Given the description of an element on the screen output the (x, y) to click on. 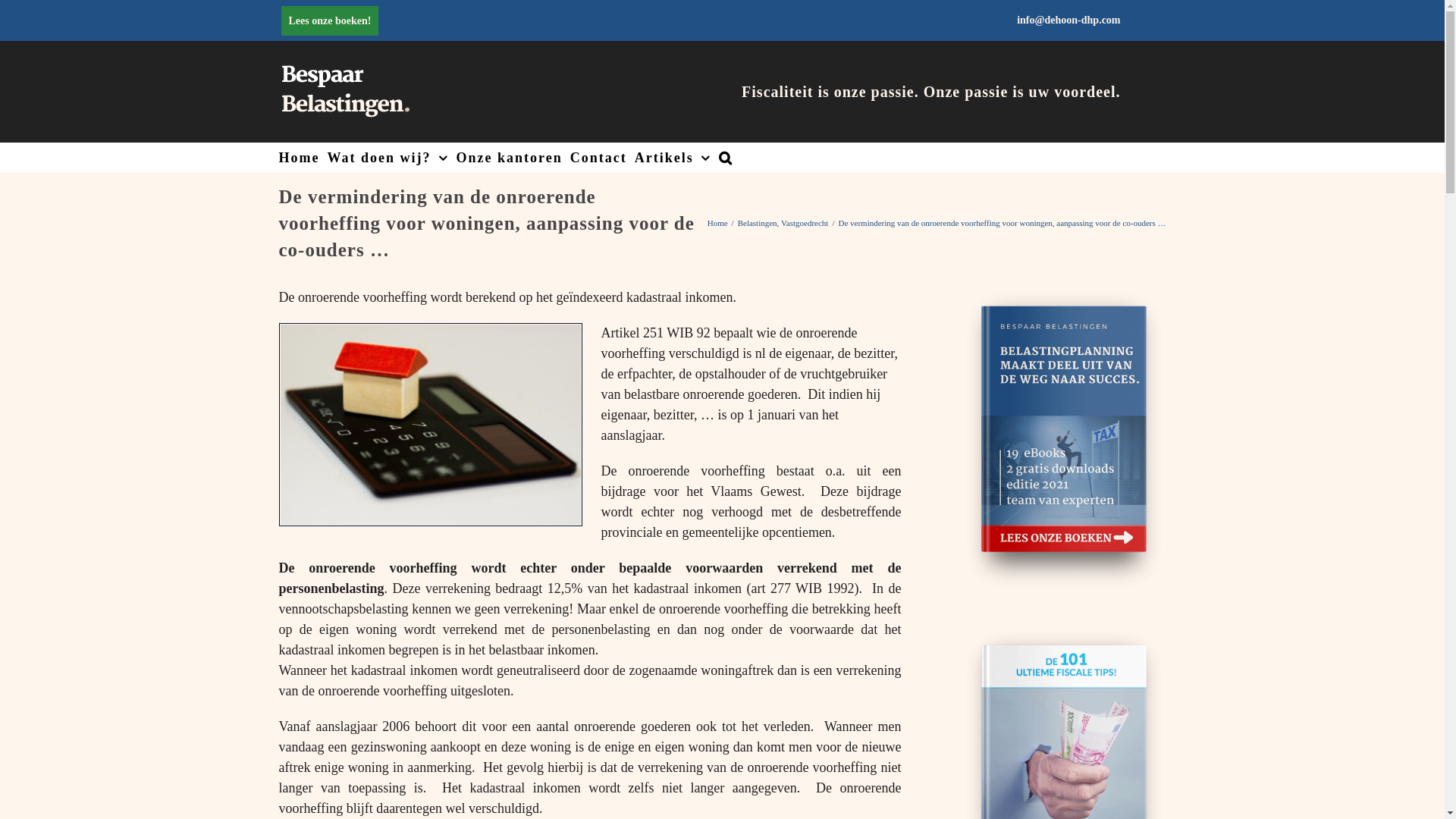
Home Element type: text (717, 222)
Contact Element type: text (598, 157)
Lees onze boeken! Element type: text (334, 20)
info@dehoon-dhp.com Element type: text (1068, 19)
Vastgoedrecht Element type: text (804, 222)
Home Element type: text (299, 157)
Onze kantoren Element type: text (509, 157)
Belastingen Element type: text (757, 222)
Wat doen wij? Element type: text (387, 157)
Artikels Element type: text (672, 157)
Zoeken Element type: hover (725, 157)
